Given the description of an element on the screen output the (x, y) to click on. 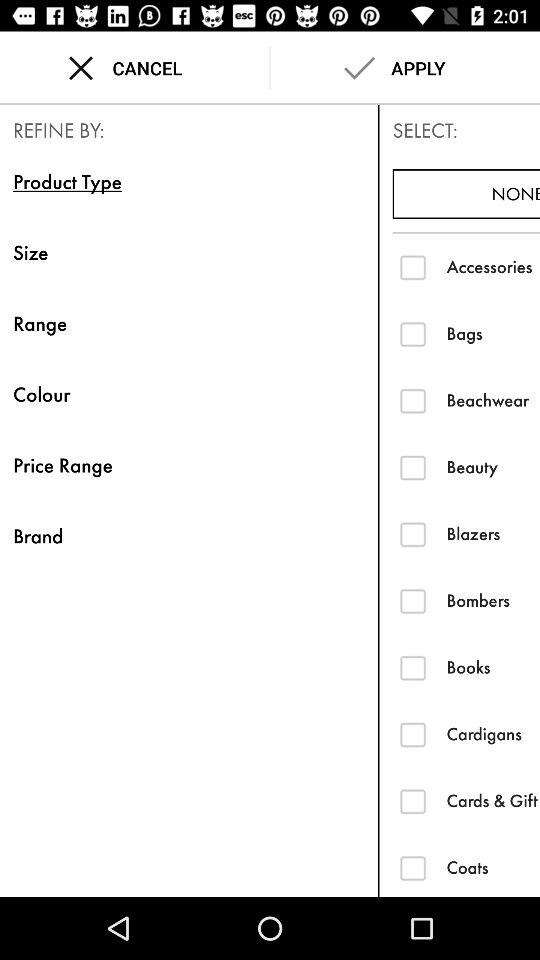
select product type (412, 266)
